Given the description of an element on the screen output the (x, y) to click on. 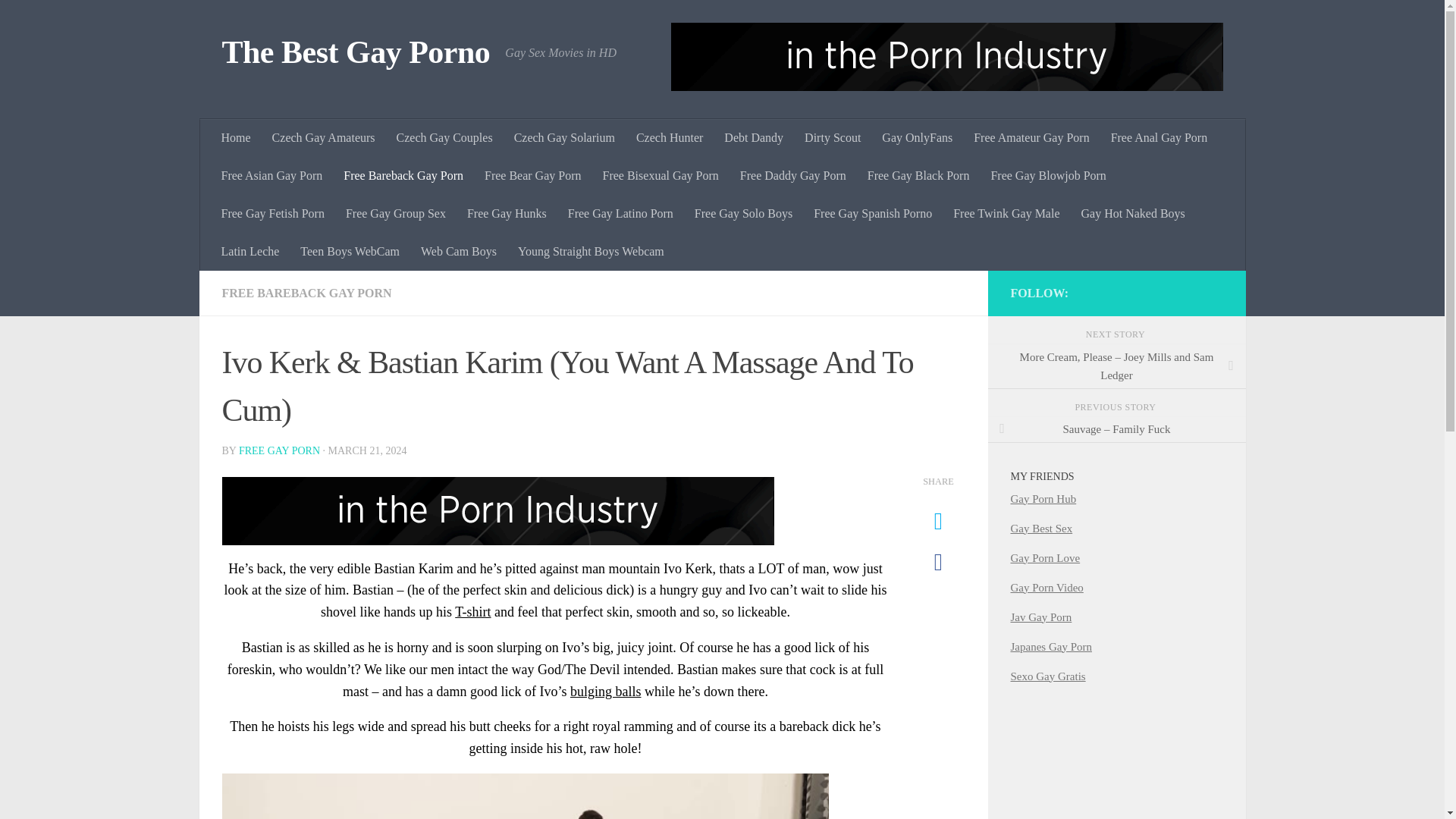
Skip to content (59, 20)
The Best Gay Porno (355, 53)
Czech Hunter (669, 137)
Jav Gay Porn (1040, 616)
Gay Best Sex (1040, 528)
Czech Gay Solarium (564, 137)
Debt Dandy (753, 137)
Posts by Free Gay Porn (279, 450)
Gay Porn Hub (1042, 499)
Czech Gay Couples (444, 137)
Home (236, 137)
Czech Gay Amateurs (323, 137)
Gay Porn Love (1045, 558)
Gay Porn Video (1046, 587)
